Given the description of an element on the screen output the (x, y) to click on. 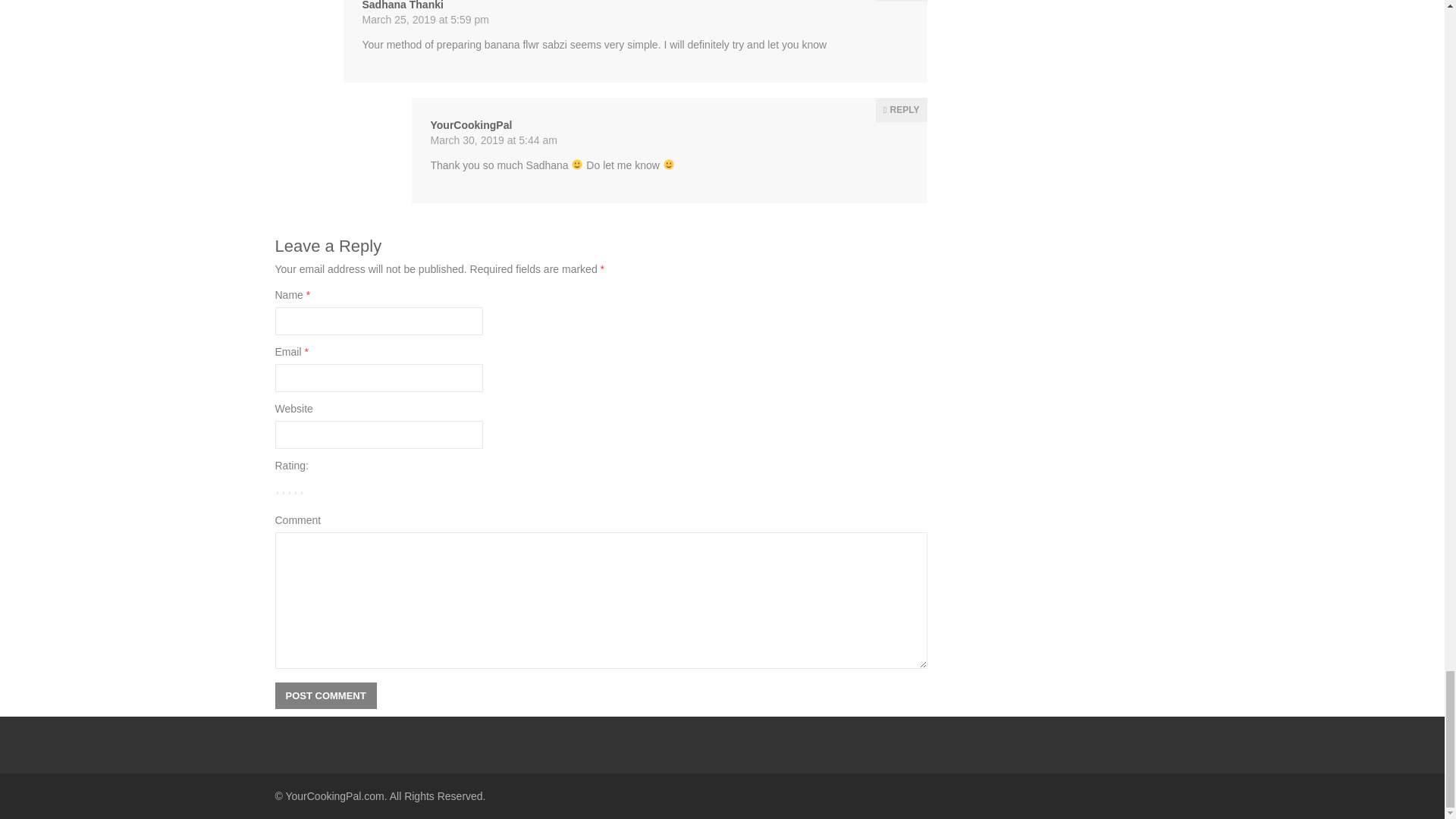
Post Comment (325, 695)
